Given the description of an element on the screen output the (x, y) to click on. 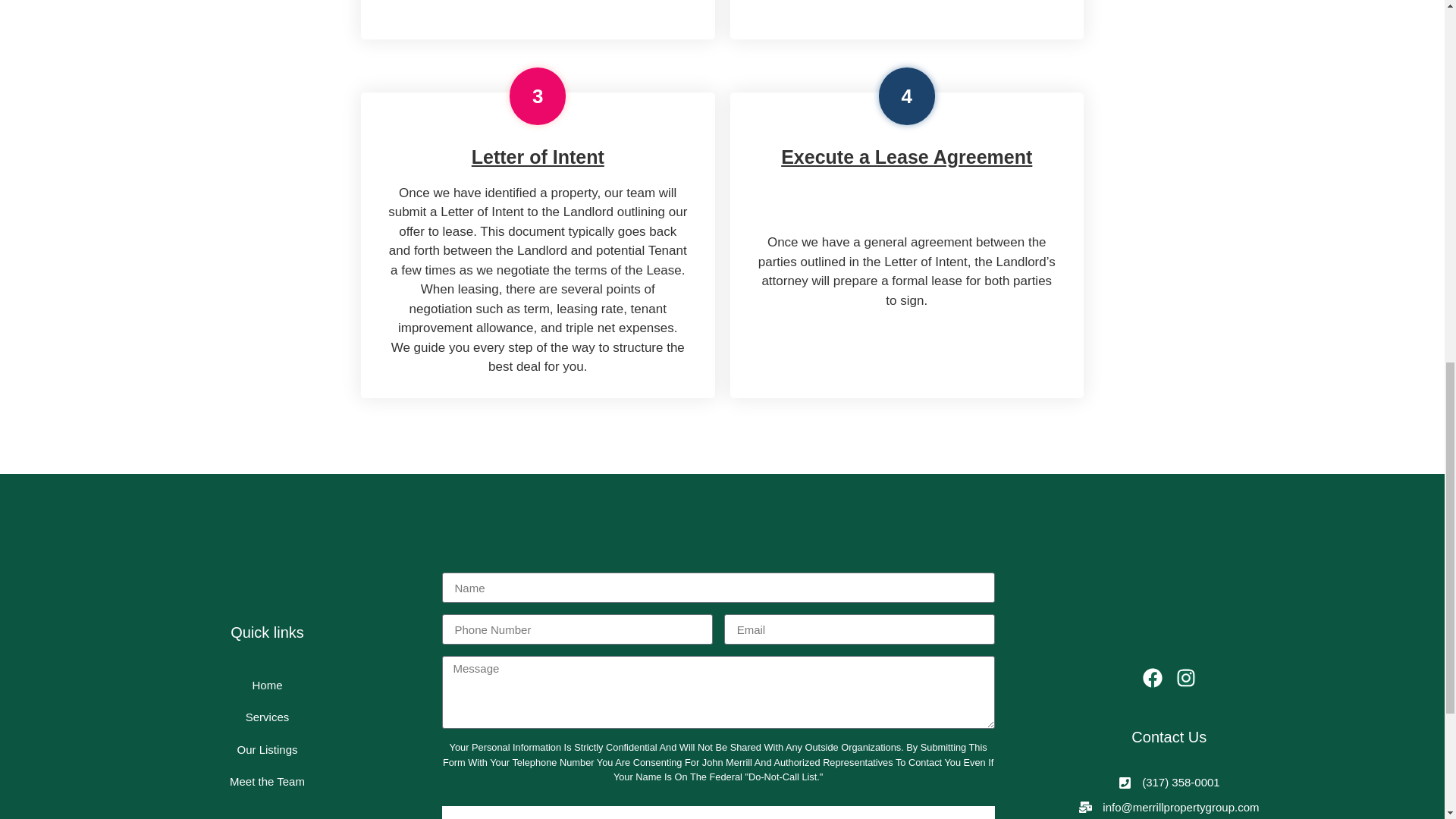
Meet the Team (267, 781)
Send Message (717, 812)
Services (267, 717)
Our Listings (267, 749)
Home (267, 685)
